Given the description of an element on the screen output the (x, y) to click on. 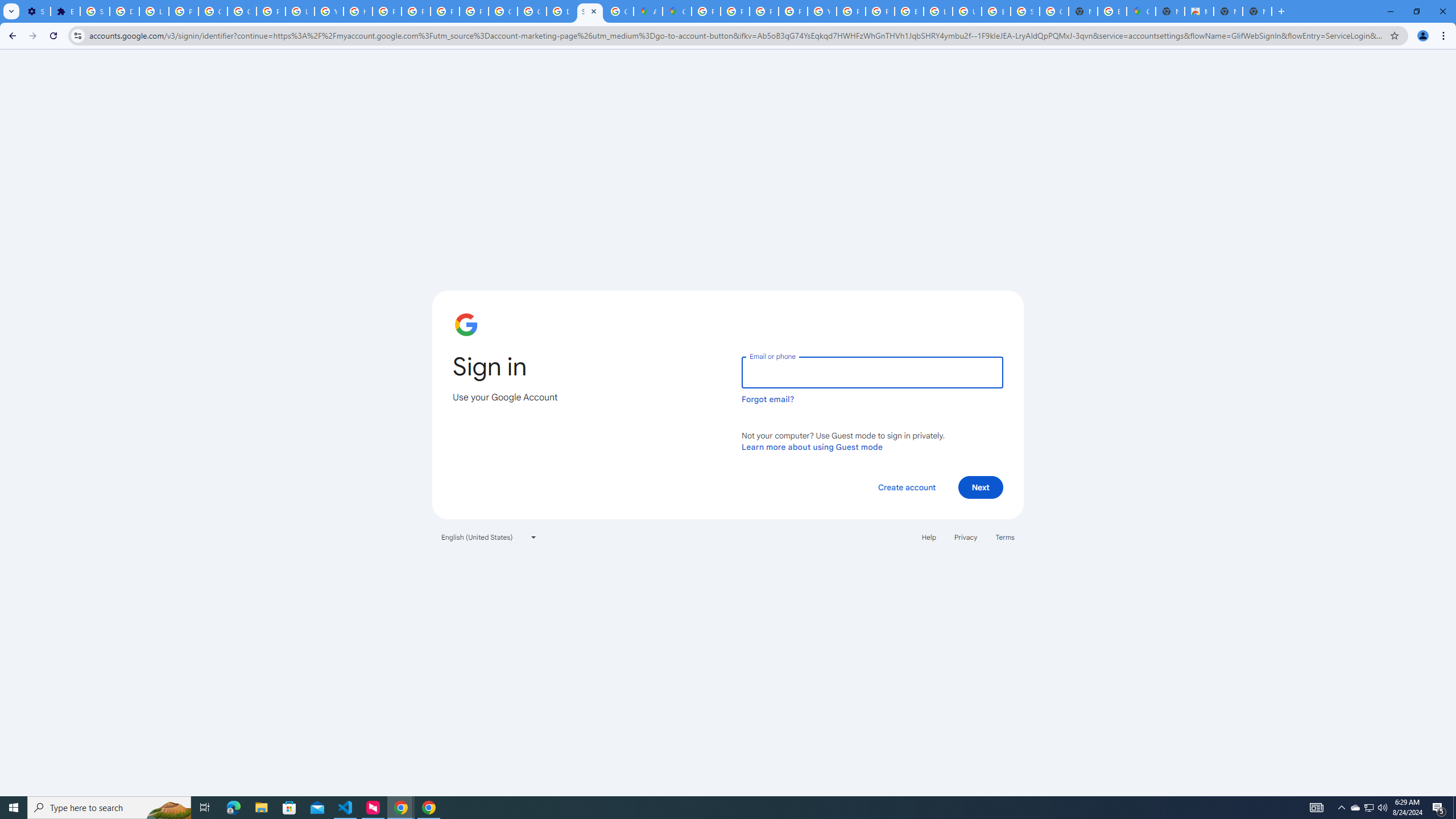
Sign in - Google Accounts (1025, 11)
Reload (52, 35)
Google Account Help (212, 11)
Help (928, 536)
You (1422, 35)
Privacy Help Center - Policies Help (763, 11)
Back (10, 35)
Privacy Help Center - Policies Help (386, 11)
